Given the description of an element on the screen output the (x, y) to click on. 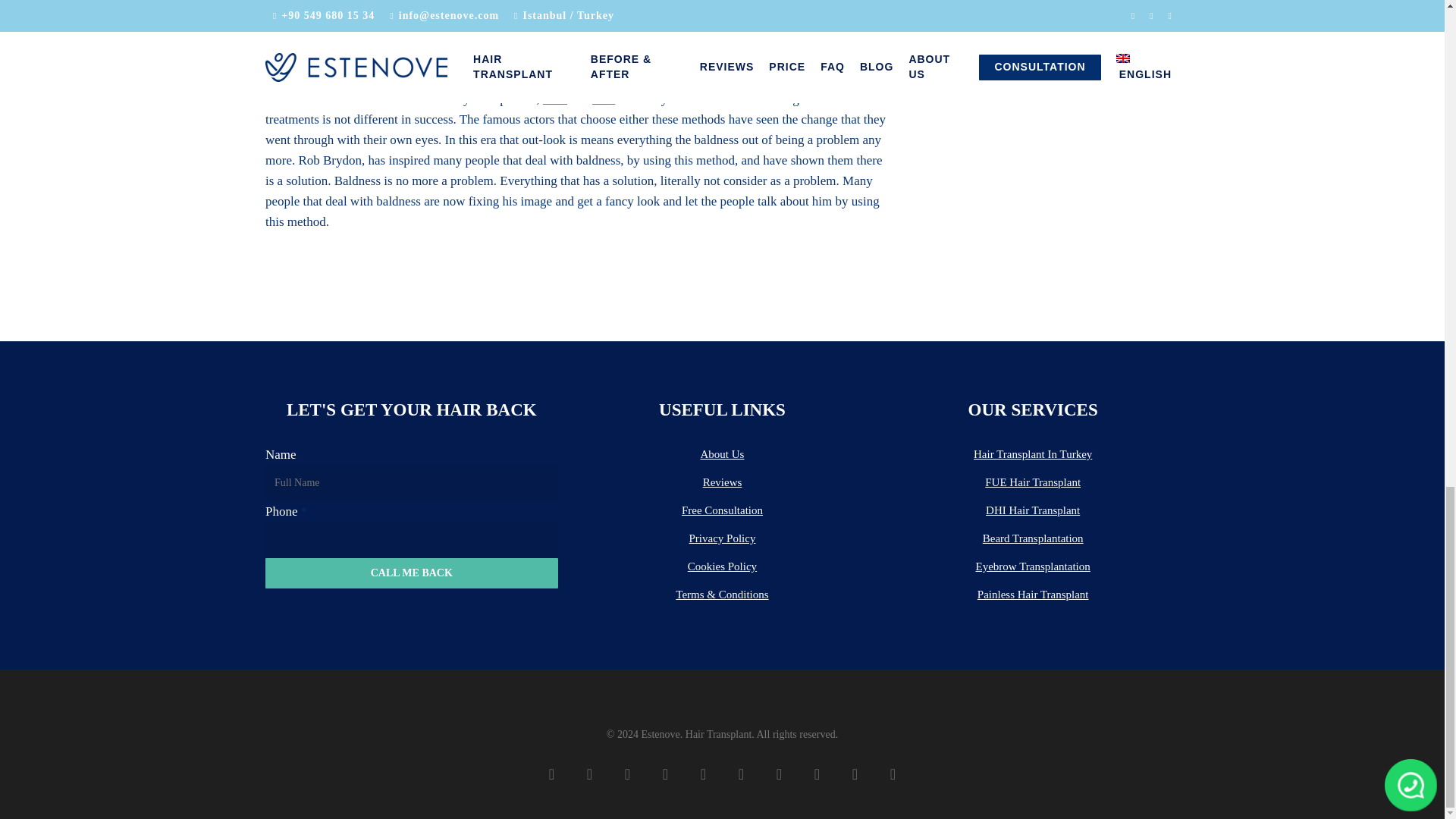
DHI (603, 98)
FUE (555, 98)
